Given the description of an element on the screen output the (x, y) to click on. 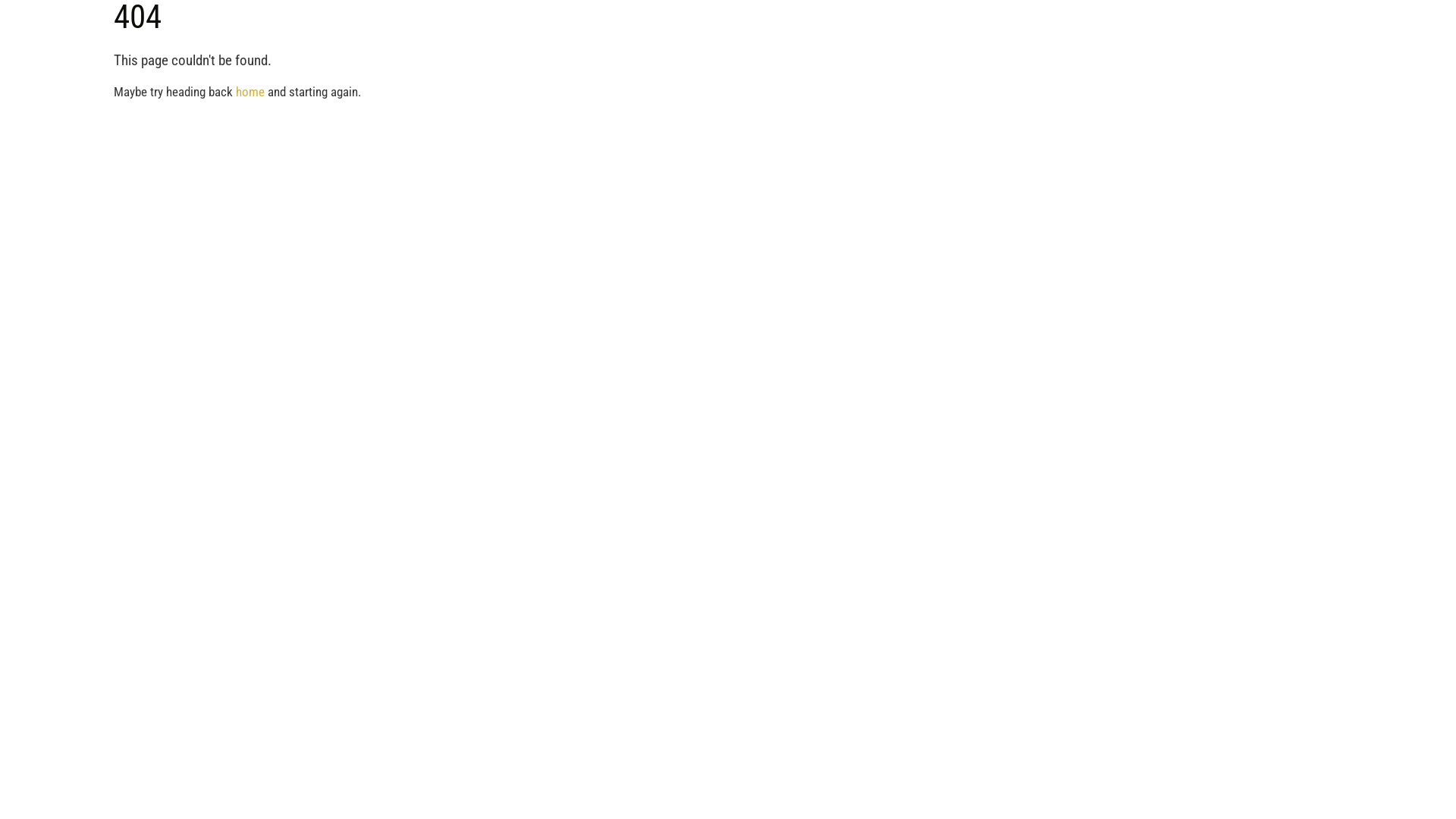
home Element type: text (249, 91)
